Given the description of an element on the screen output the (x, y) to click on. 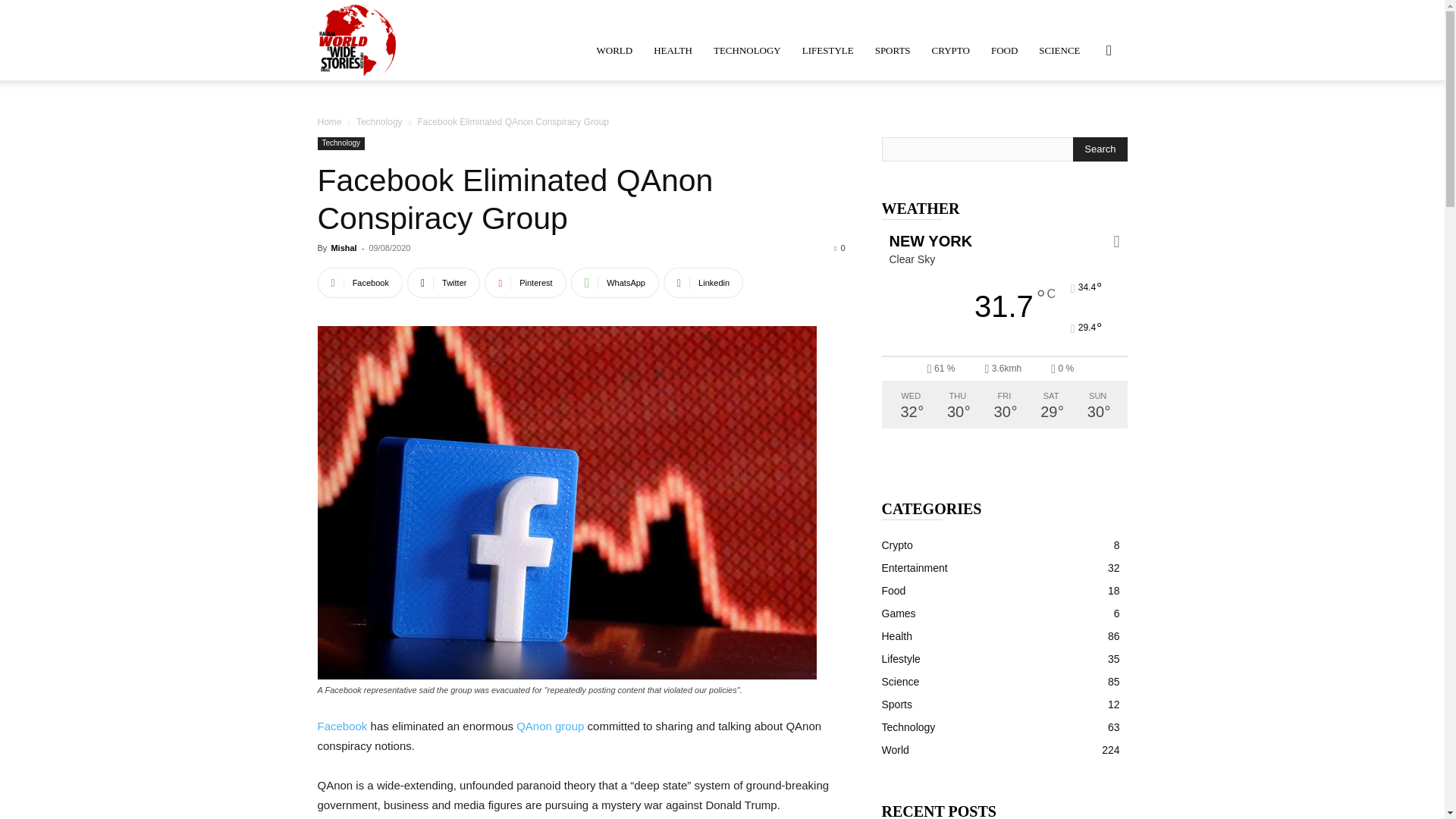
World Wide Stories (355, 40)
Facebook (341, 725)
View all posts in Technology (379, 122)
Twitter (443, 282)
TECHNOLOGY (747, 50)
Linkedin (702, 282)
World Wide Stories (355, 39)
HEALTH (673, 50)
CRYPTO (950, 50)
SPORTS (892, 50)
Linkedin (702, 282)
Search (1099, 149)
LIFESTYLE (828, 50)
Facebook (359, 282)
